Given the description of an element on the screen output the (x, y) to click on. 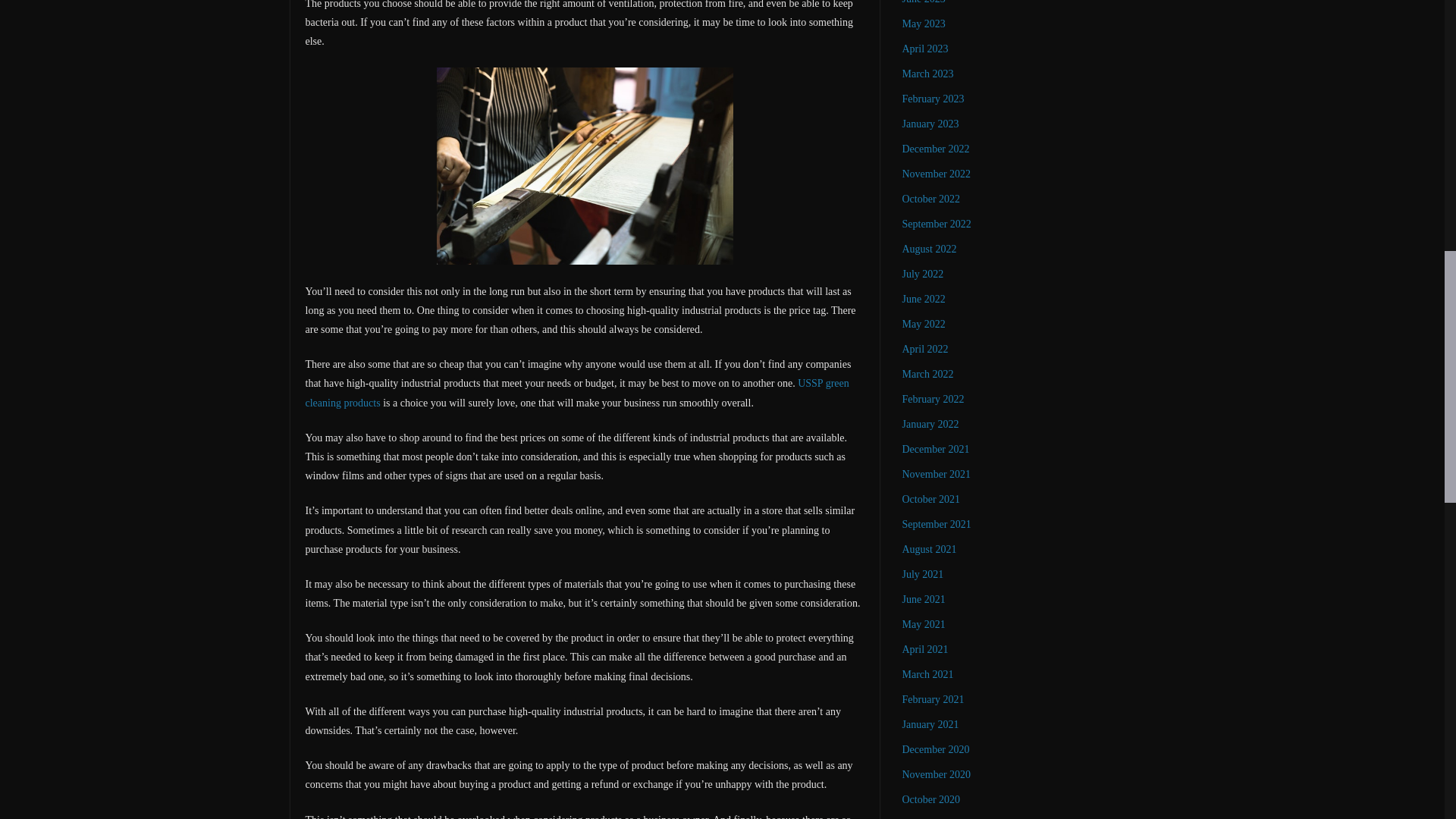
USSP green cleaning products (576, 392)
